Given the description of an element on the screen output the (x, y) to click on. 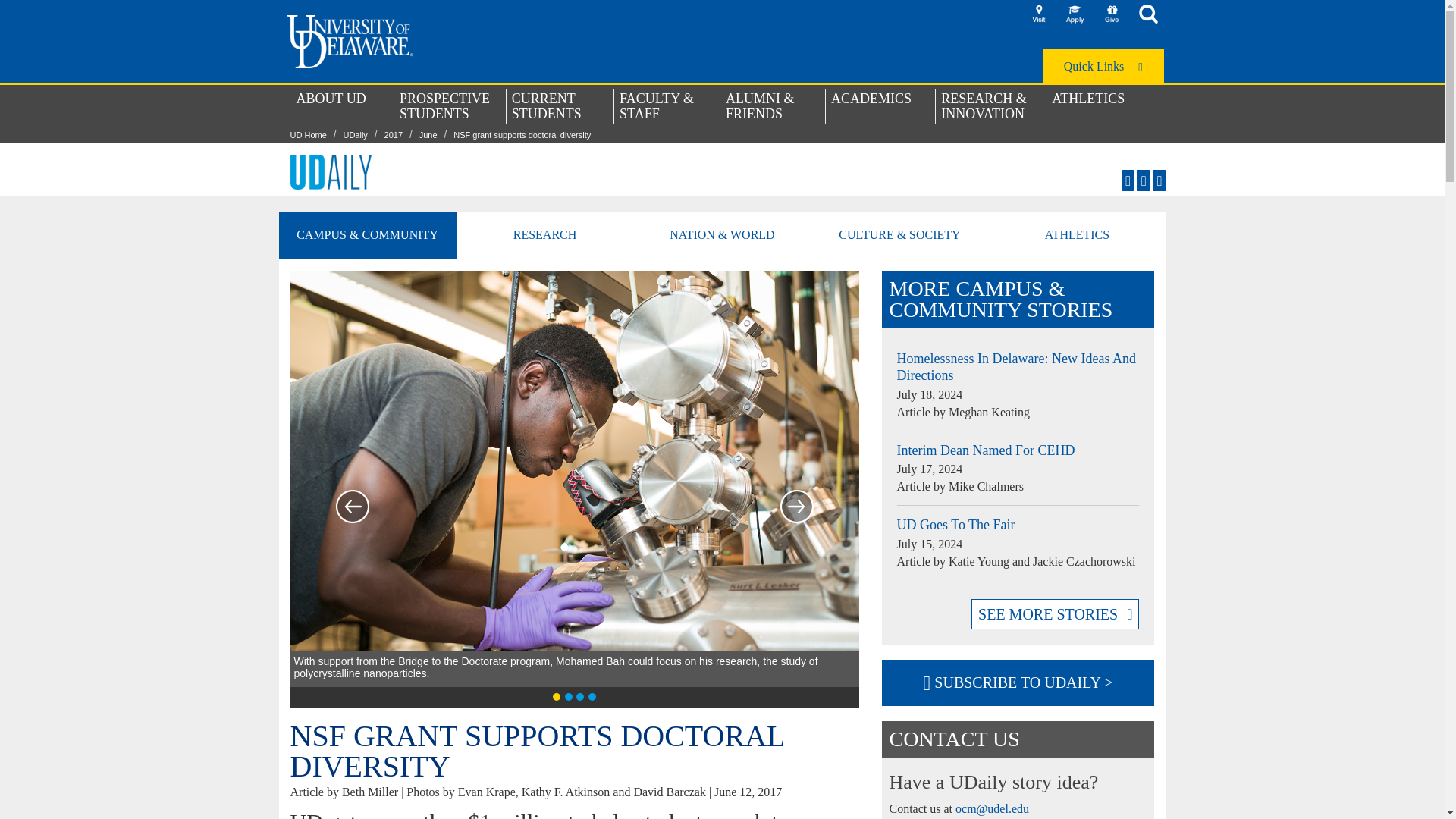
Give (1111, 13)
Search (1147, 13)
Quick Links (1103, 66)
Visit (1038, 13)
Apply (1074, 13)
University of Delaware (349, 41)
ABOUT UD (341, 105)
